Given the description of an element on the screen output the (x, y) to click on. 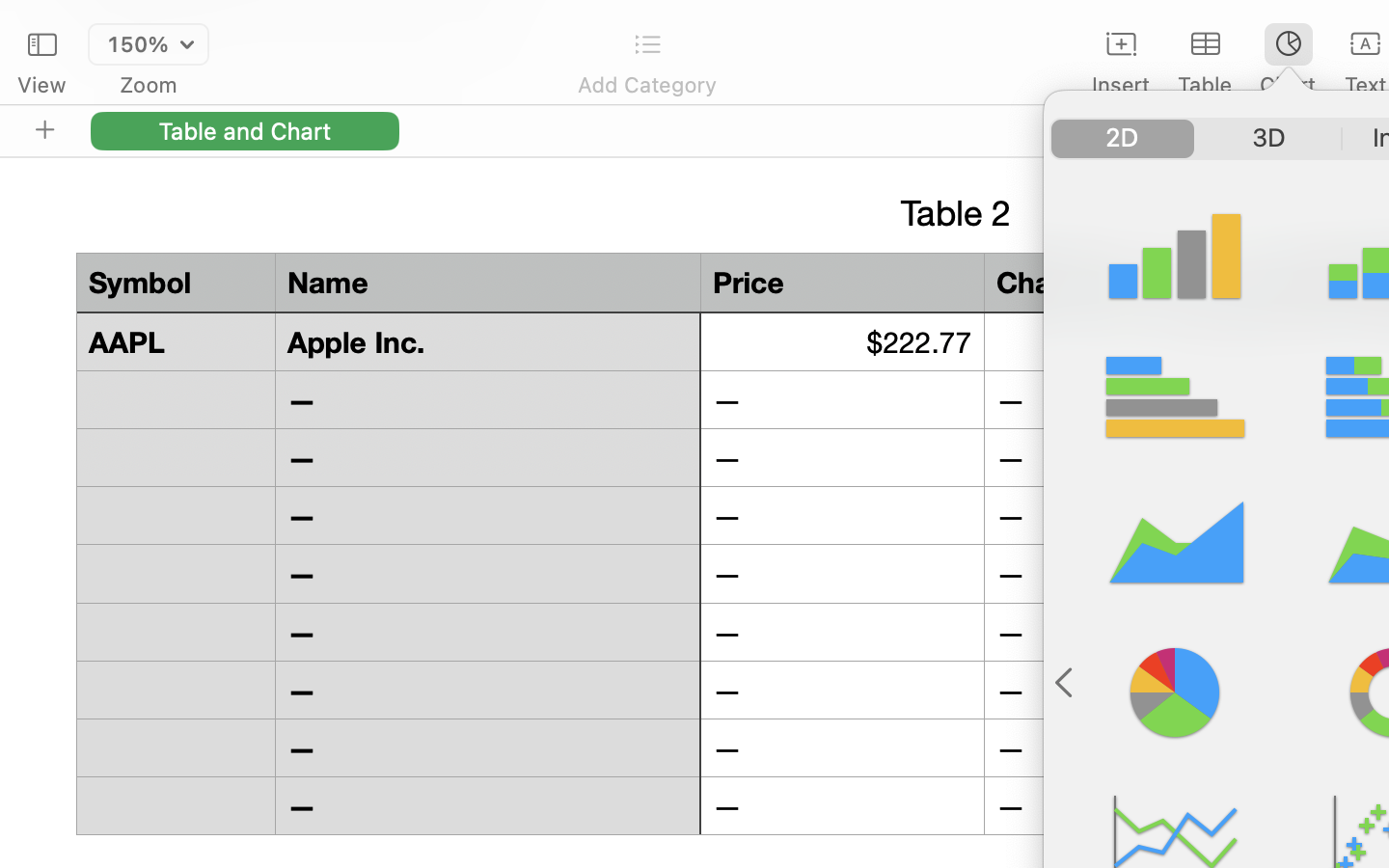
View Element type: AXStaticText (41, 84)
Table and Chart Element type: AXStaticText (244, 129)
